Given the description of an element on the screen output the (x, y) to click on. 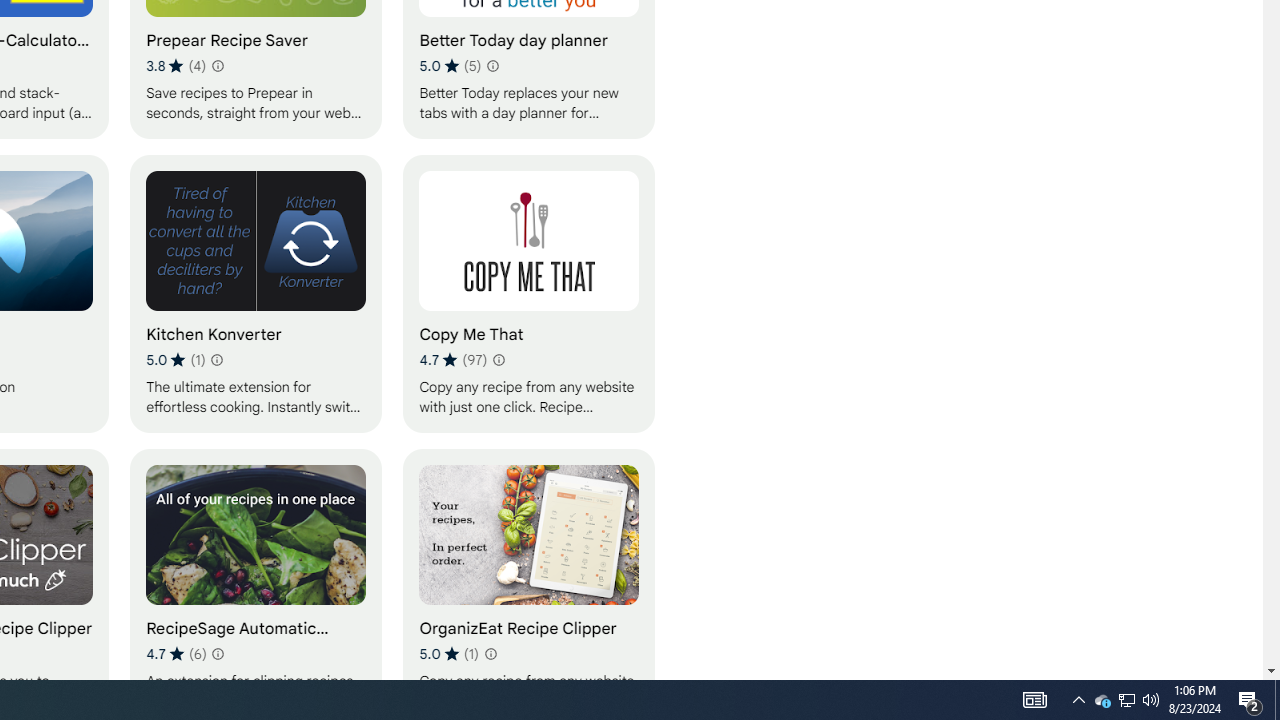
Learn more about results and reviews "Kitchen Konverter" (216, 359)
Average rating 5 out of 5 stars. 1 rating. (448, 653)
Average rating 4.7 out of 5 stars. 6 ratings. (176, 653)
Average rating 4.7 out of 5 stars. 97 ratings. (452, 359)
Learn more about results and reviews "Copy Me That" (498, 359)
Learn more about results and reviews "Prepear Recipe Saver" (216, 65)
Copy Me That (529, 293)
Average rating 5 out of 5 stars. 5 ratings. (450, 66)
Average rating 3.8 out of 5 stars. 4 ratings. (176, 66)
Kitchen Konverter (256, 293)
